Given the description of an element on the screen output the (x, y) to click on. 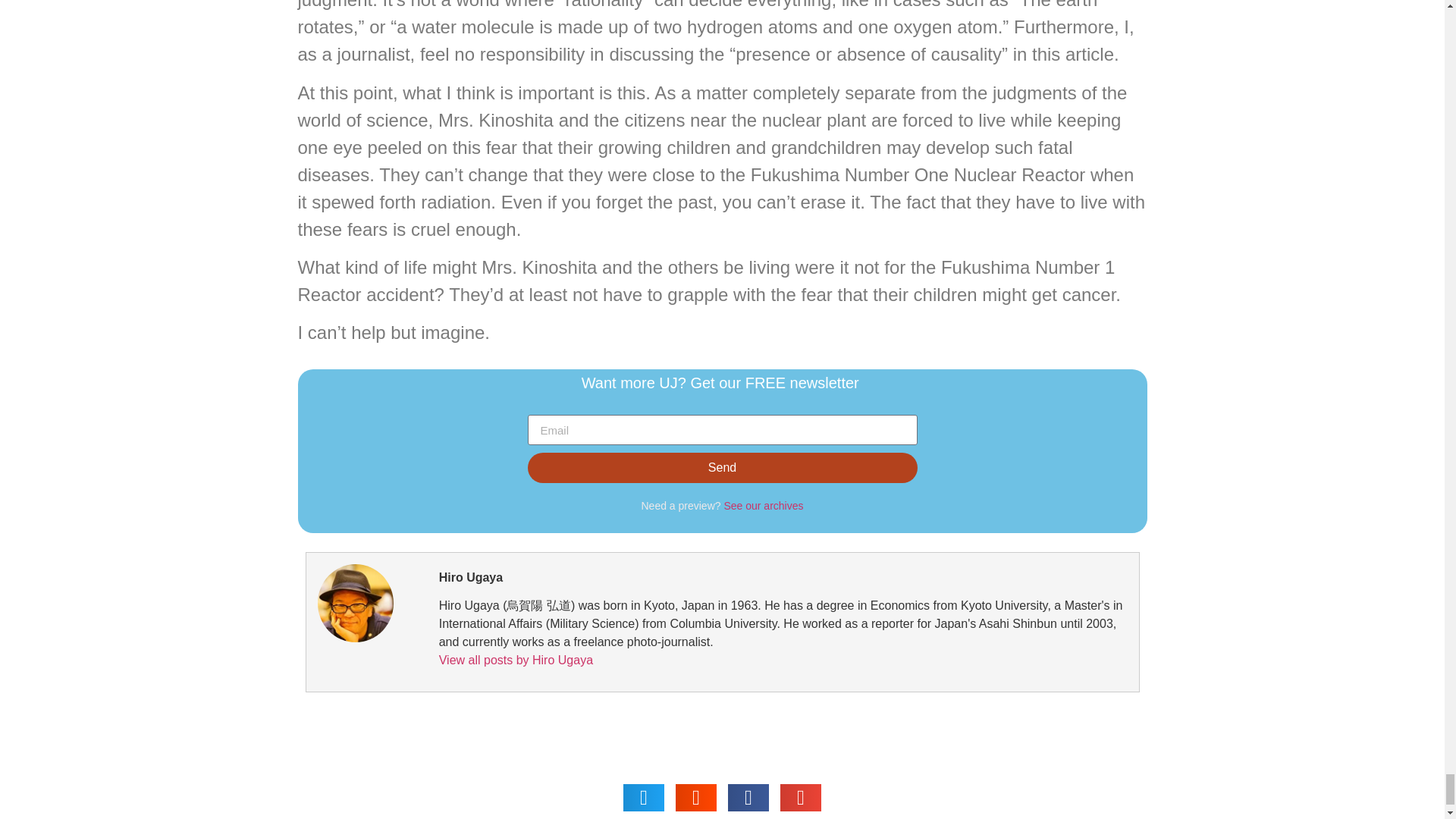
Send (722, 467)
See our archives (763, 505)
Privacy Policy (353, 790)
Submissions (664, 790)
Terms of Use (463, 790)
Contact Us (563, 790)
View all posts by Hiro Ugaya (515, 659)
